Given the description of an element on the screen output the (x, y) to click on. 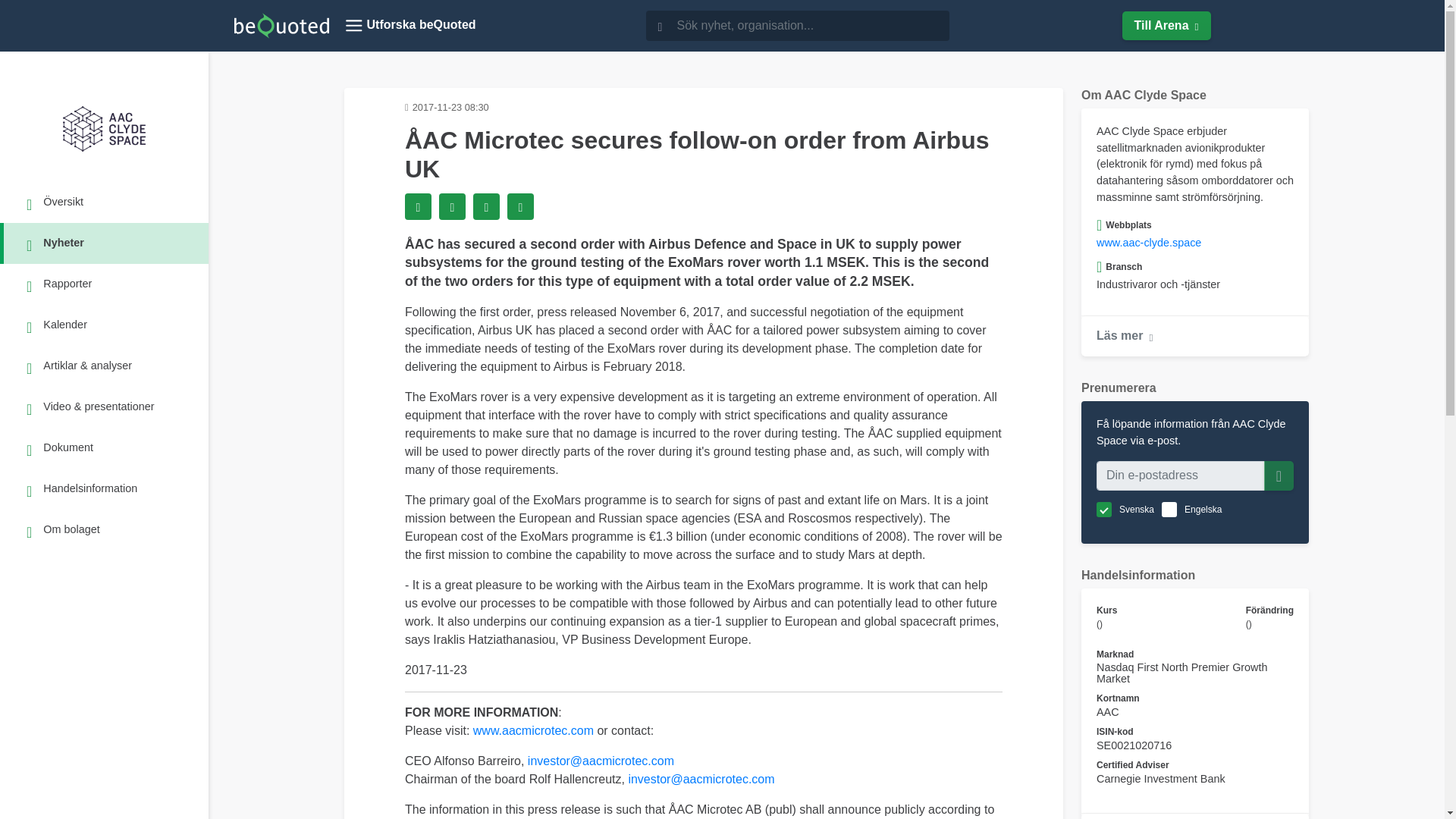
Kalender (106, 324)
Utforska beQuoted (409, 25)
Om bolaget (106, 529)
www.aac-clyde.space (1148, 242)
Rapporter (106, 283)
Handelsinformation (106, 488)
Nyheter (106, 242)
Till Arena (1166, 25)
Dokument (106, 447)
www.aacmicrotec.com (533, 730)
